Given the description of an element on the screen output the (x, y) to click on. 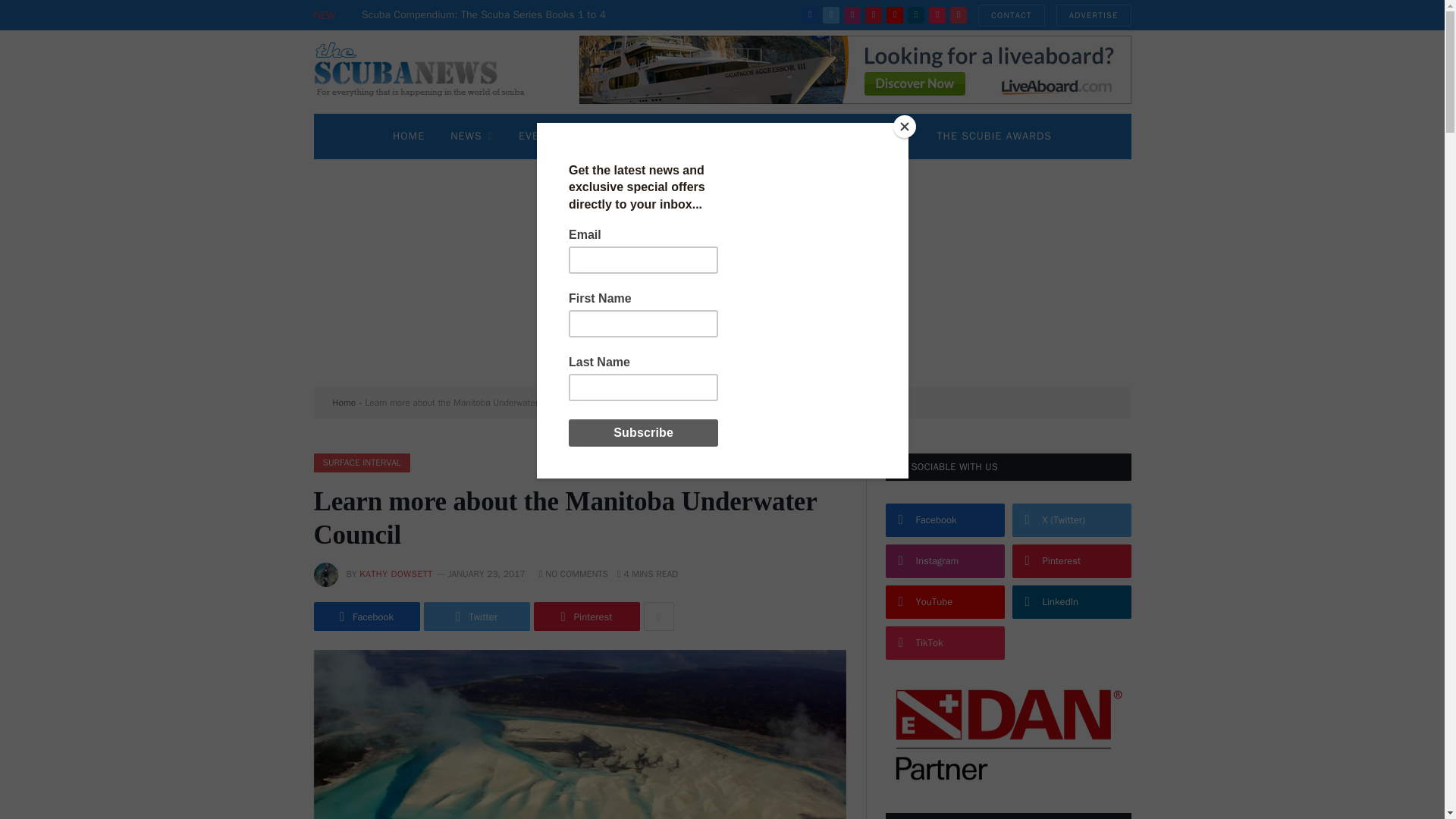
YouTube (894, 14)
HOME (409, 135)
Scuba Compendium: The Scuba Series Books 1 to 4 (486, 15)
NEWS (471, 135)
Pinterest (873, 14)
Threads (958, 14)
ADVERTISE (1094, 15)
TikTok (936, 14)
CONTACT (1011, 15)
Facebook (810, 14)
The Scuba News (427, 71)
Instagram (852, 14)
LinkedIn (915, 14)
